Given the description of an element on the screen output the (x, y) to click on. 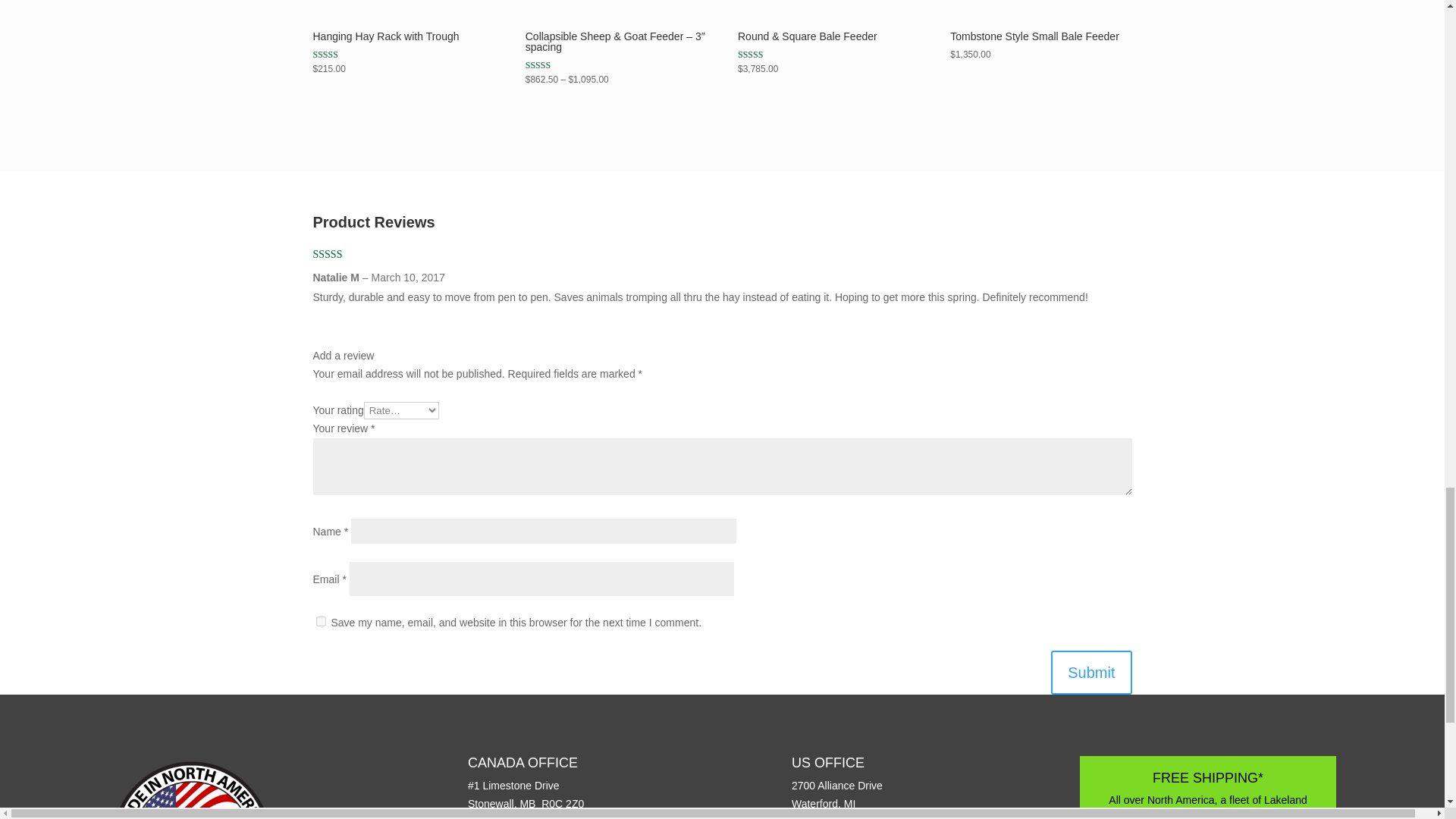
yes (319, 621)
